Given the description of an element on the screen output the (x, y) to click on. 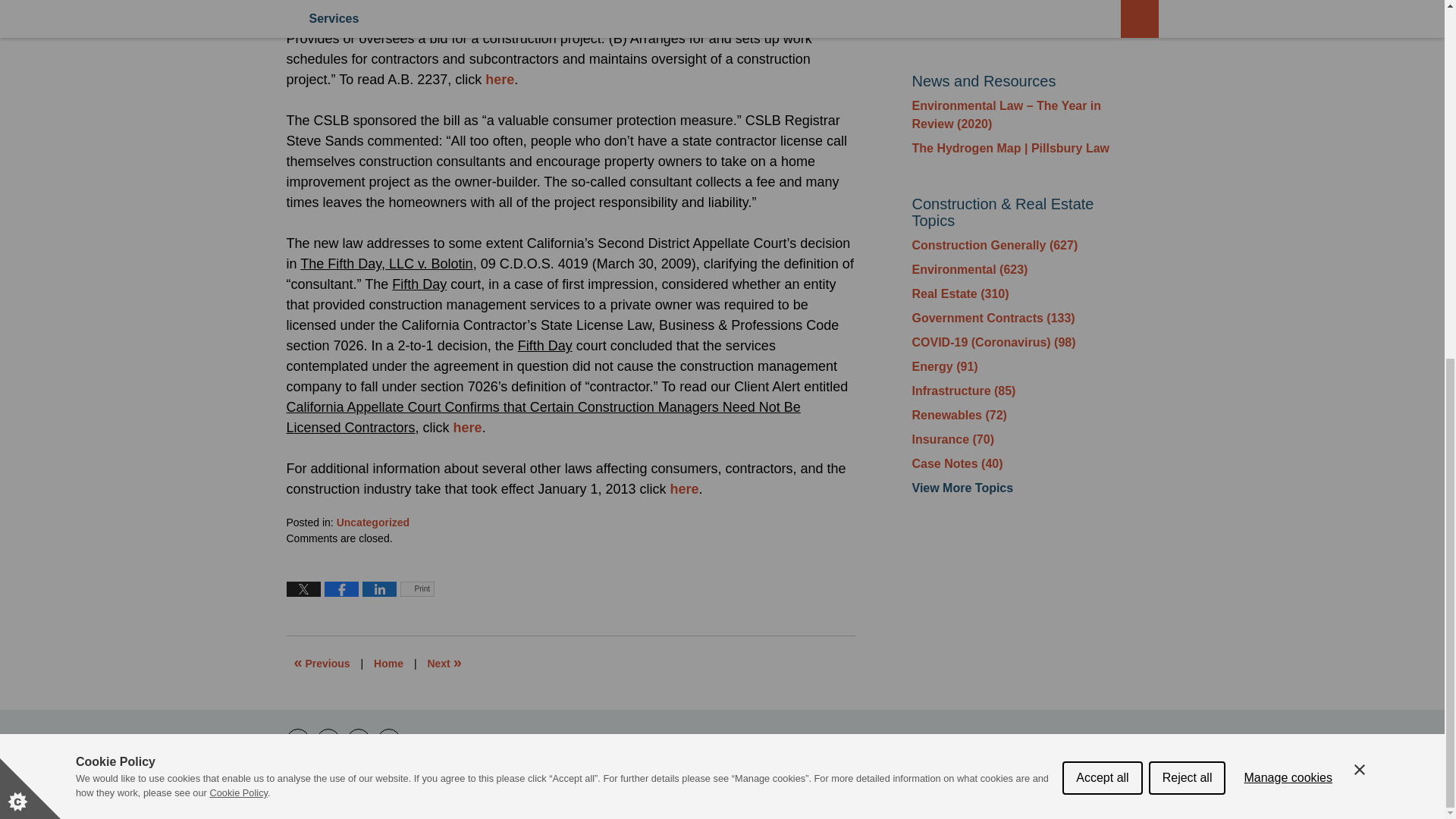
Cookie Policy (238, 233)
Uncategorized (372, 522)
Accept all (1101, 203)
Click to print (416, 589)
here (498, 79)
Print (416, 589)
Reject all (1186, 186)
Manage cookies (1287, 180)
Home (388, 663)
View all posts in Uncategorized (372, 522)
here (683, 488)
here (466, 427)
